Given the description of an element on the screen output the (x, y) to click on. 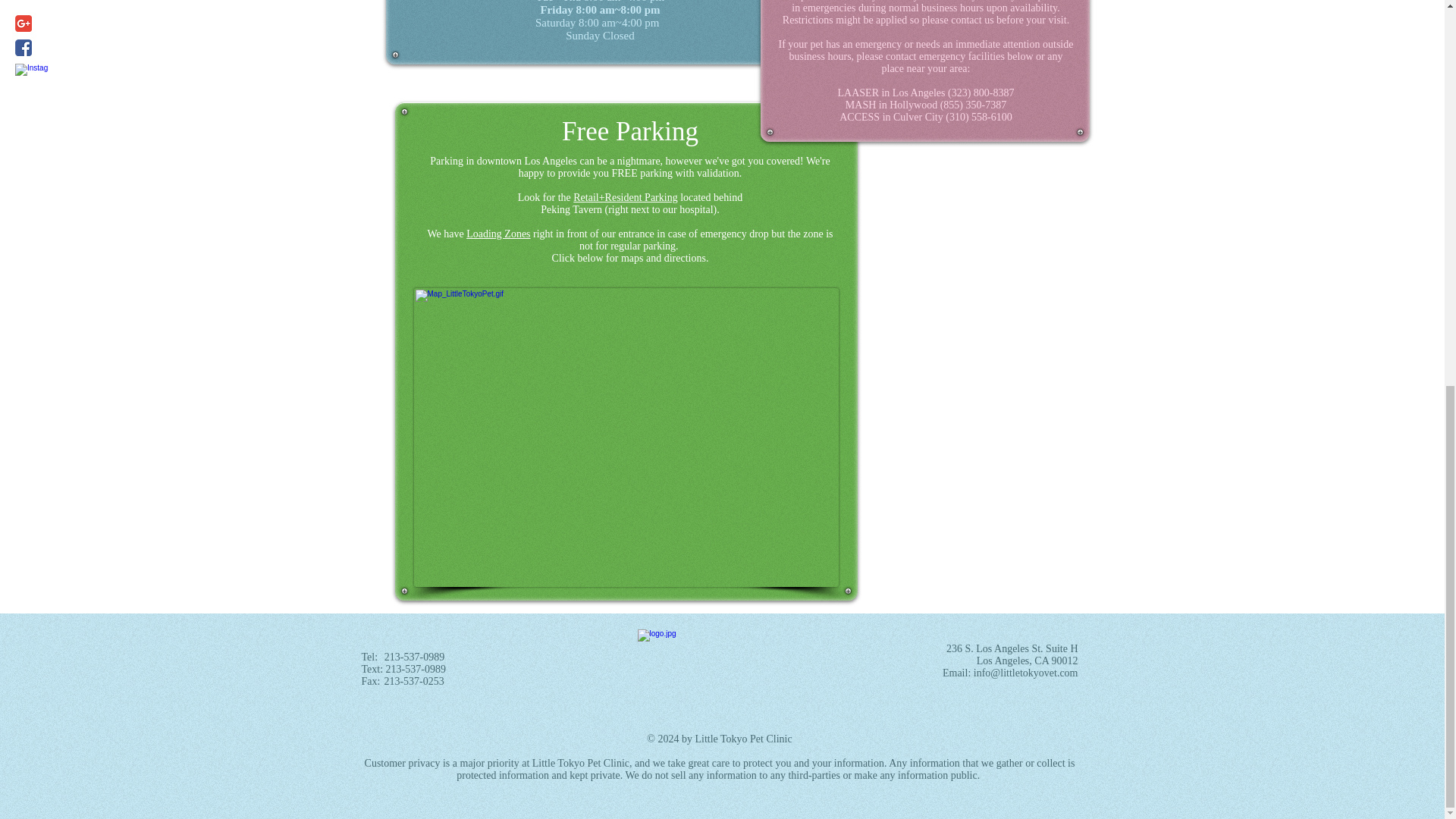
Los Angeles, CA 90012 (1027, 660)
Pet Clinic Bottom Logo (718, 666)
236 S. Los Angeles St. Suite H (1011, 648)
